Given the description of an element on the screen output the (x, y) to click on. 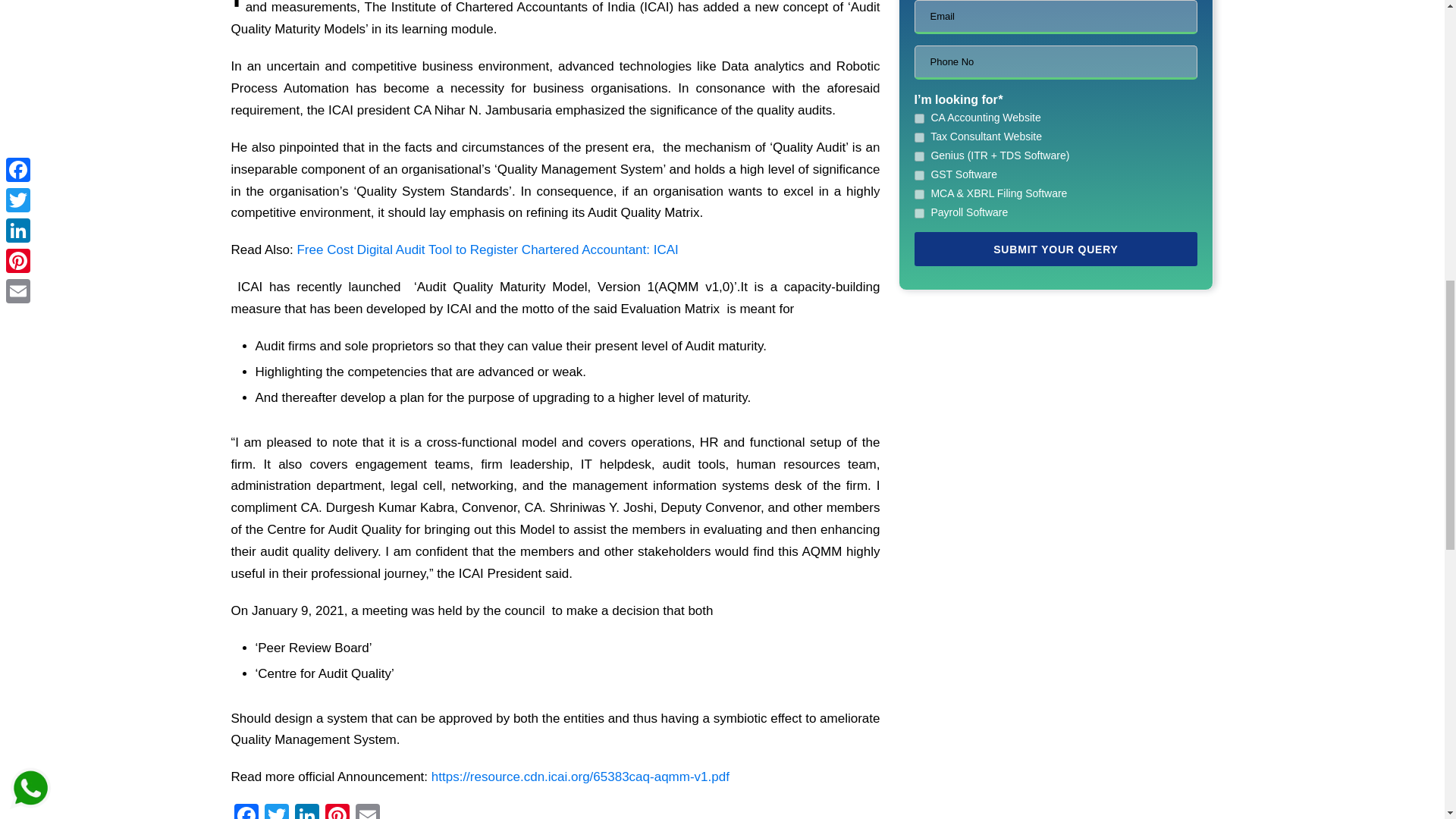
Payroll Software (919, 213)
Twitter (275, 811)
LinkedIn (306, 811)
Email (366, 811)
Tax Consultant Website (919, 137)
LinkedIn (306, 811)
Pinterest (336, 811)
Twitter (275, 811)
CA Accounting Website (919, 118)
